Given the description of an element on the screen output the (x, y) to click on. 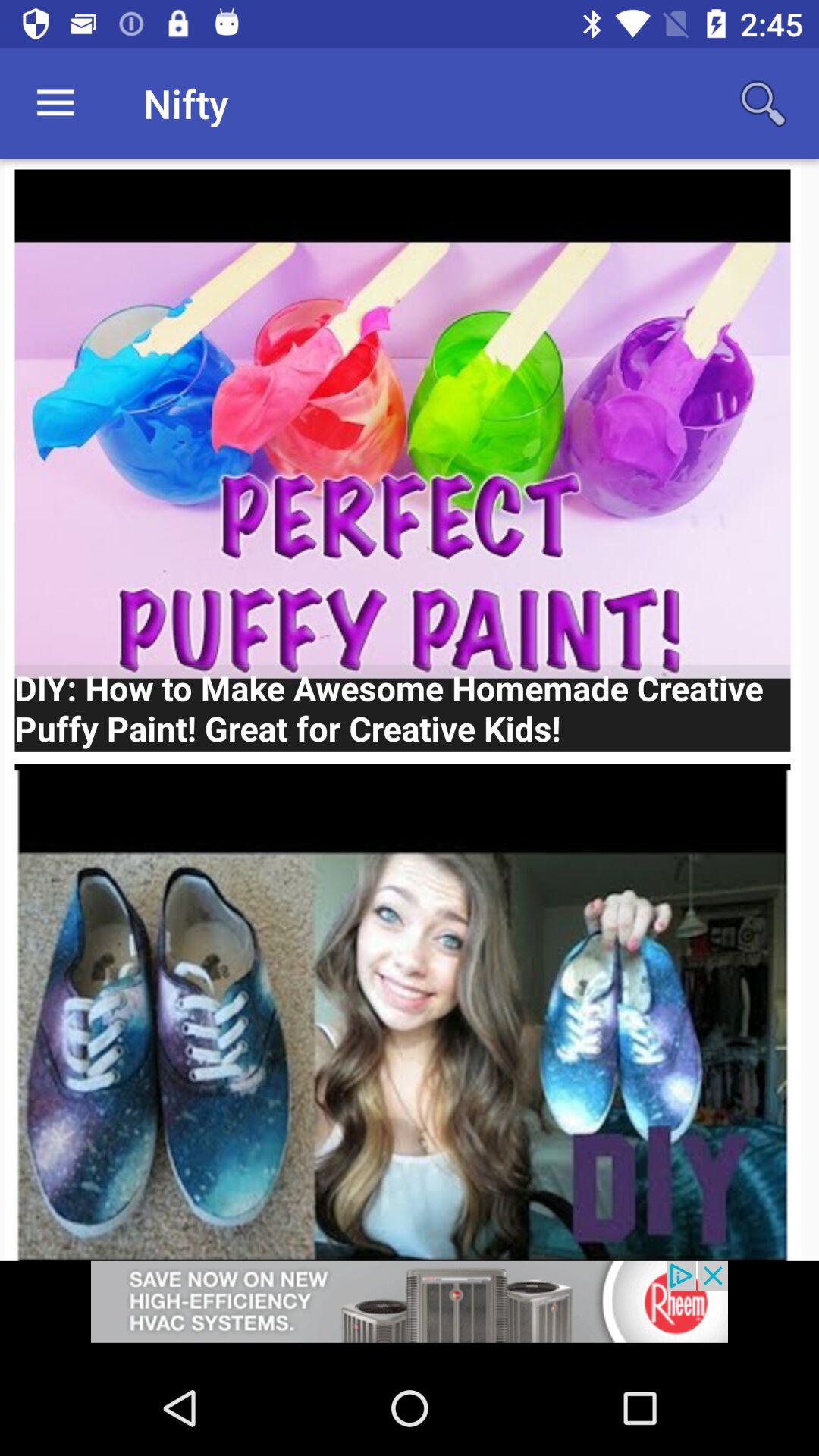
select add (409, 1310)
